Given the description of an element on the screen output the (x, y) to click on. 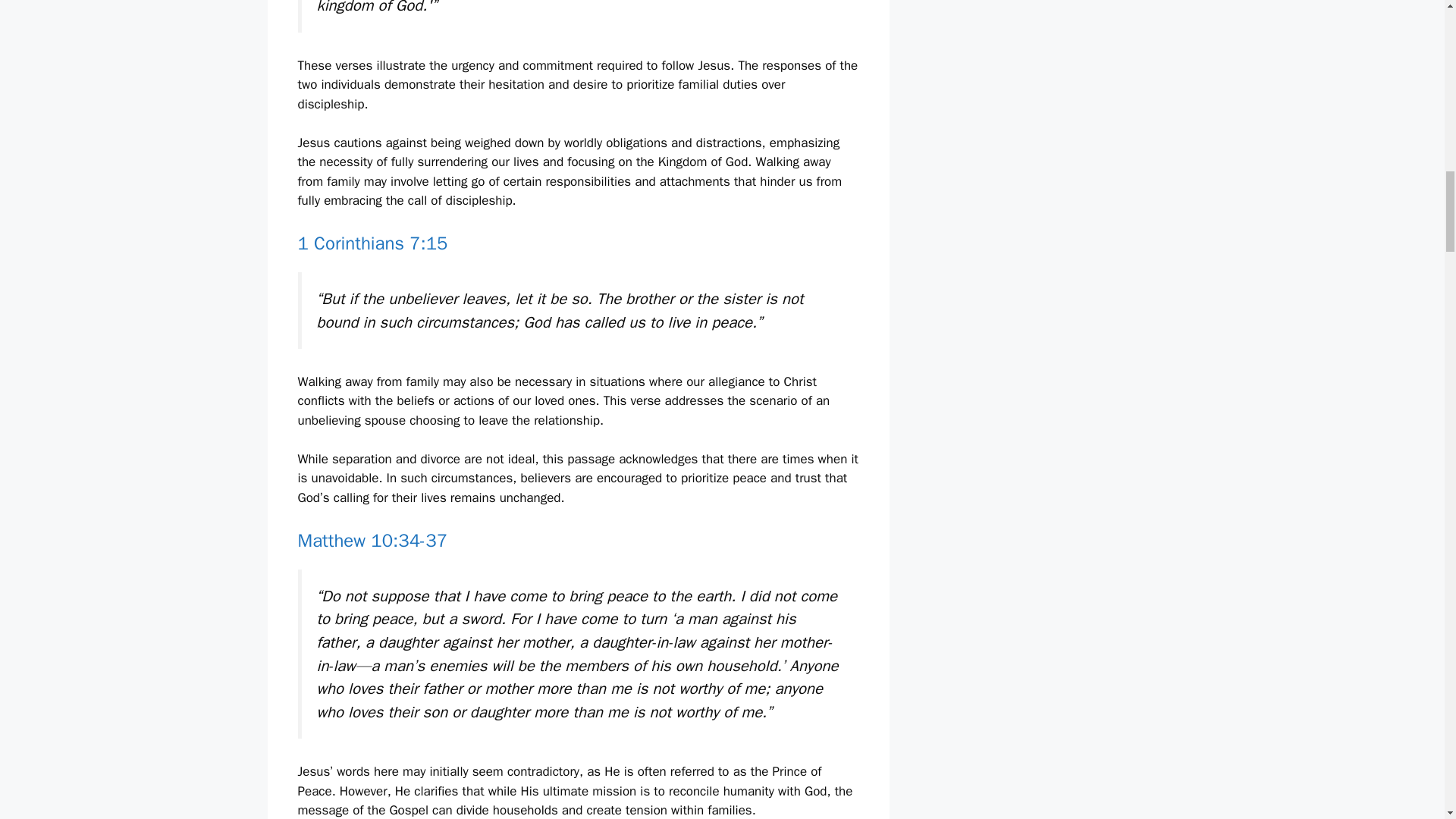
1 Corinthians 7:15 (371, 242)
Matthew 10:34-37 (371, 540)
